Given the description of an element on the screen output the (x, y) to click on. 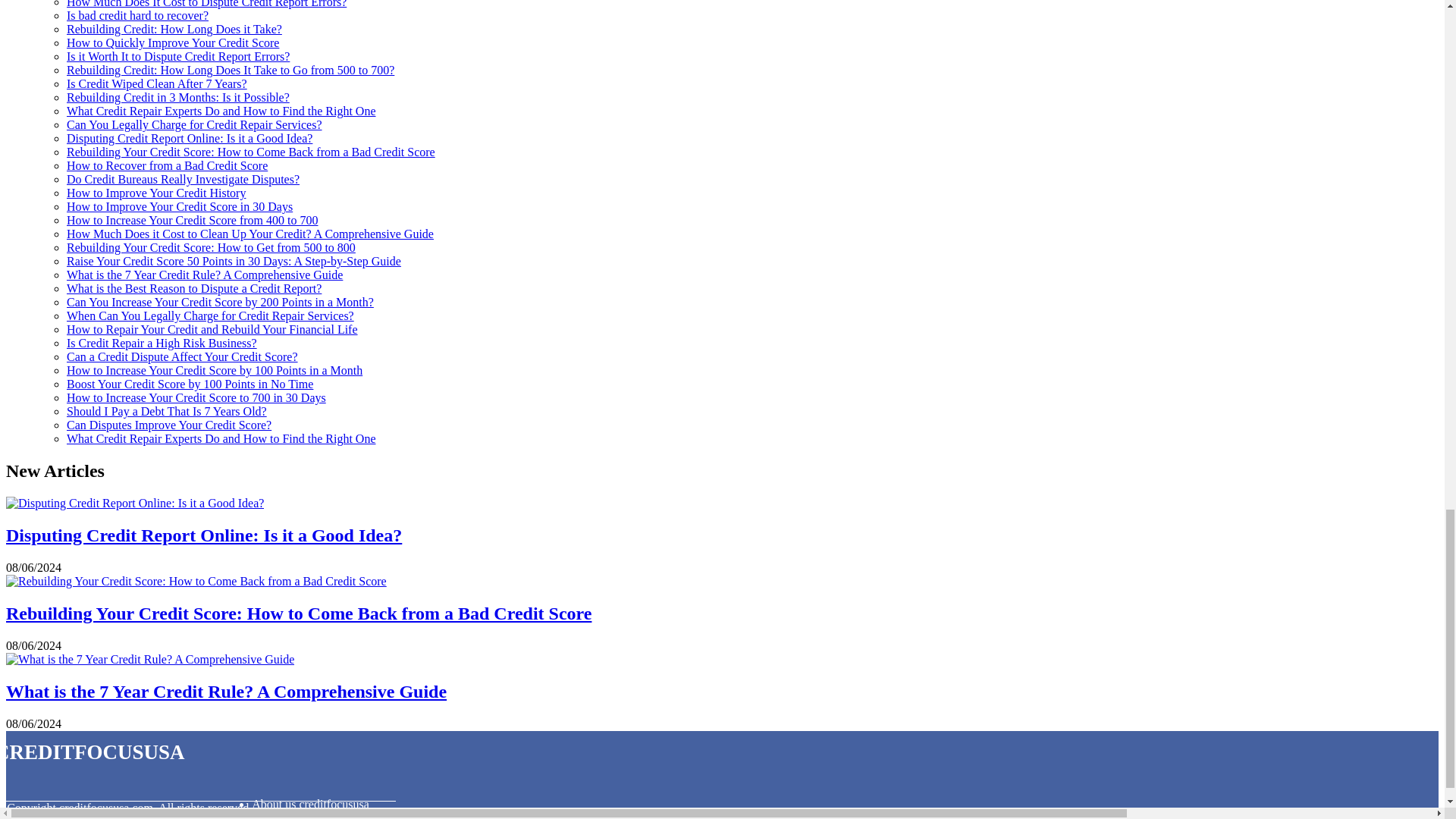
How Much Does It Cost to Dispute Credit Report Errors? (206, 4)
Is bad credit hard to recover? (137, 15)
